Given the description of an element on the screen output the (x, y) to click on. 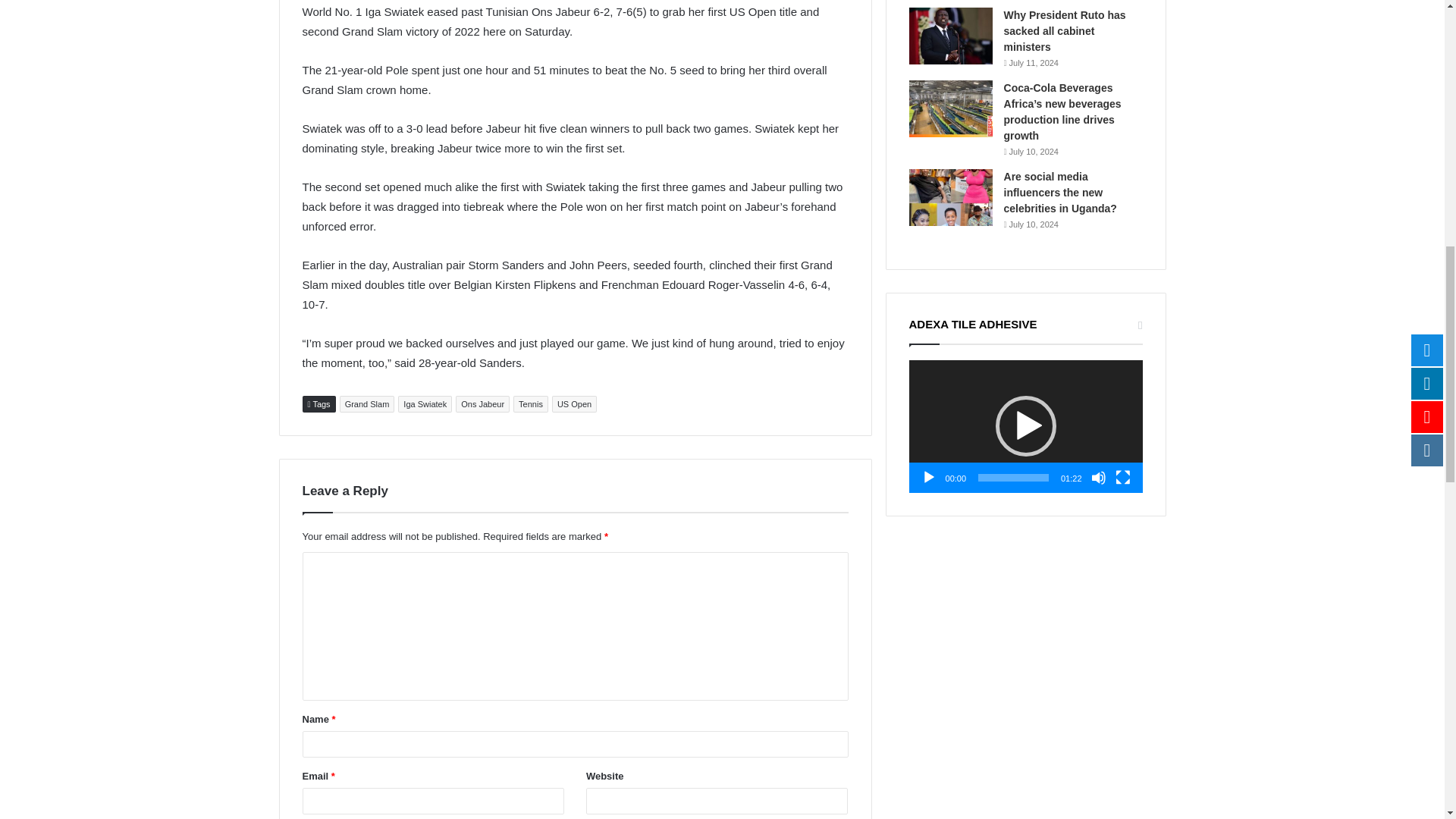
Play (928, 477)
